Given the description of an element on the screen output the (x, y) to click on. 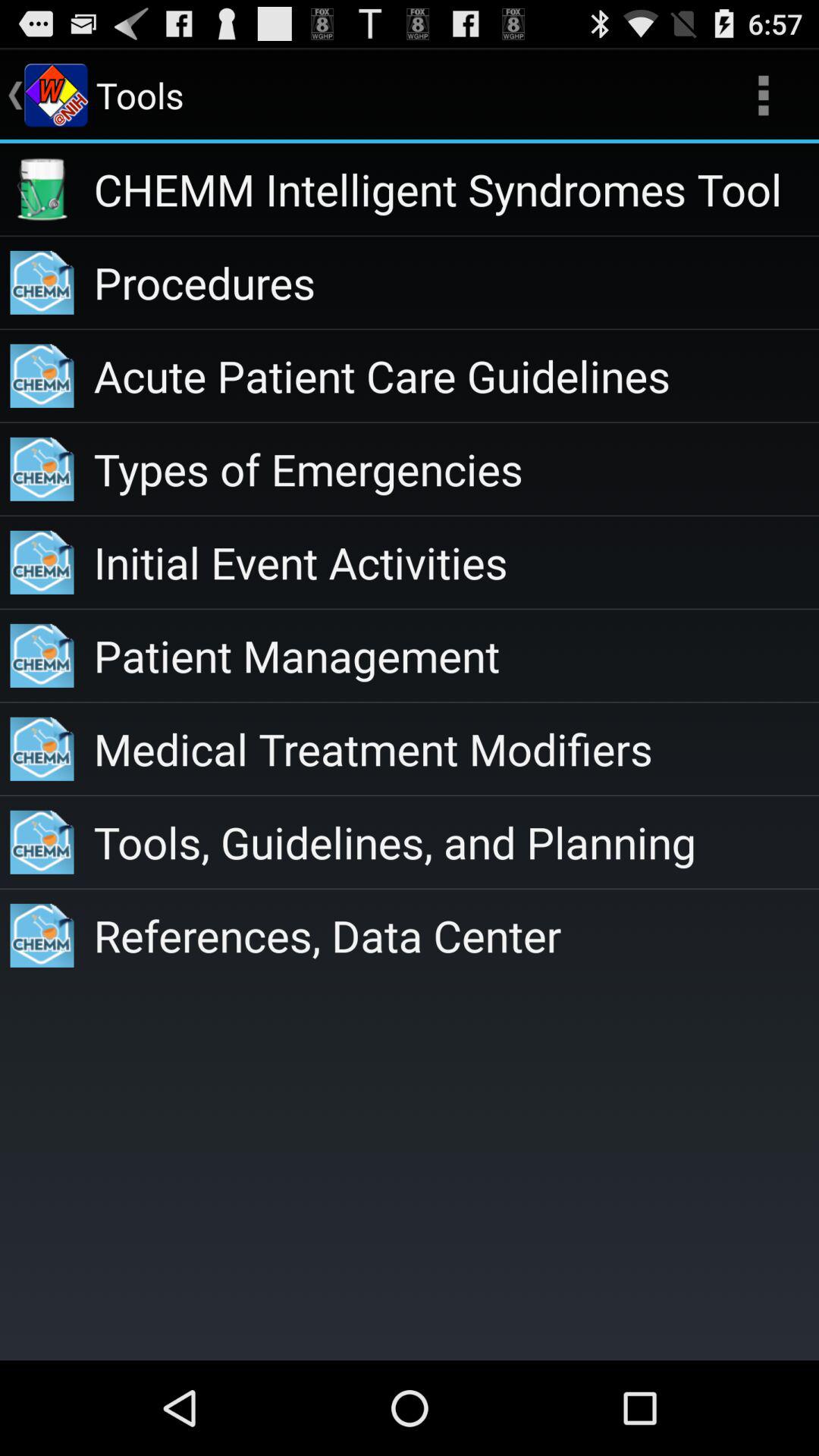
swipe to the initial event activities (456, 562)
